Given the description of an element on the screen output the (x, y) to click on. 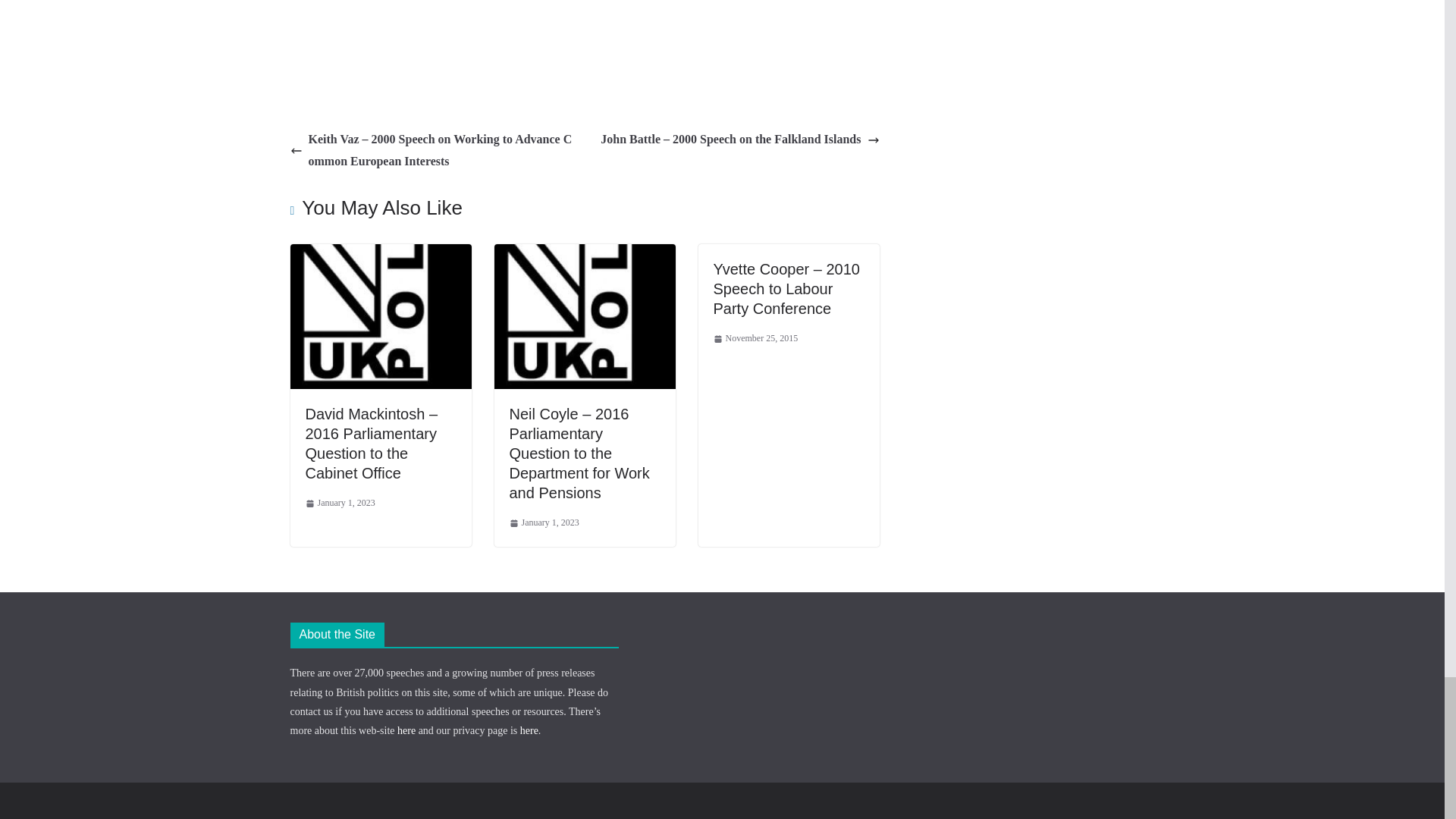
12:00 am (339, 503)
